Given the description of an element on the screen output the (x, y) to click on. 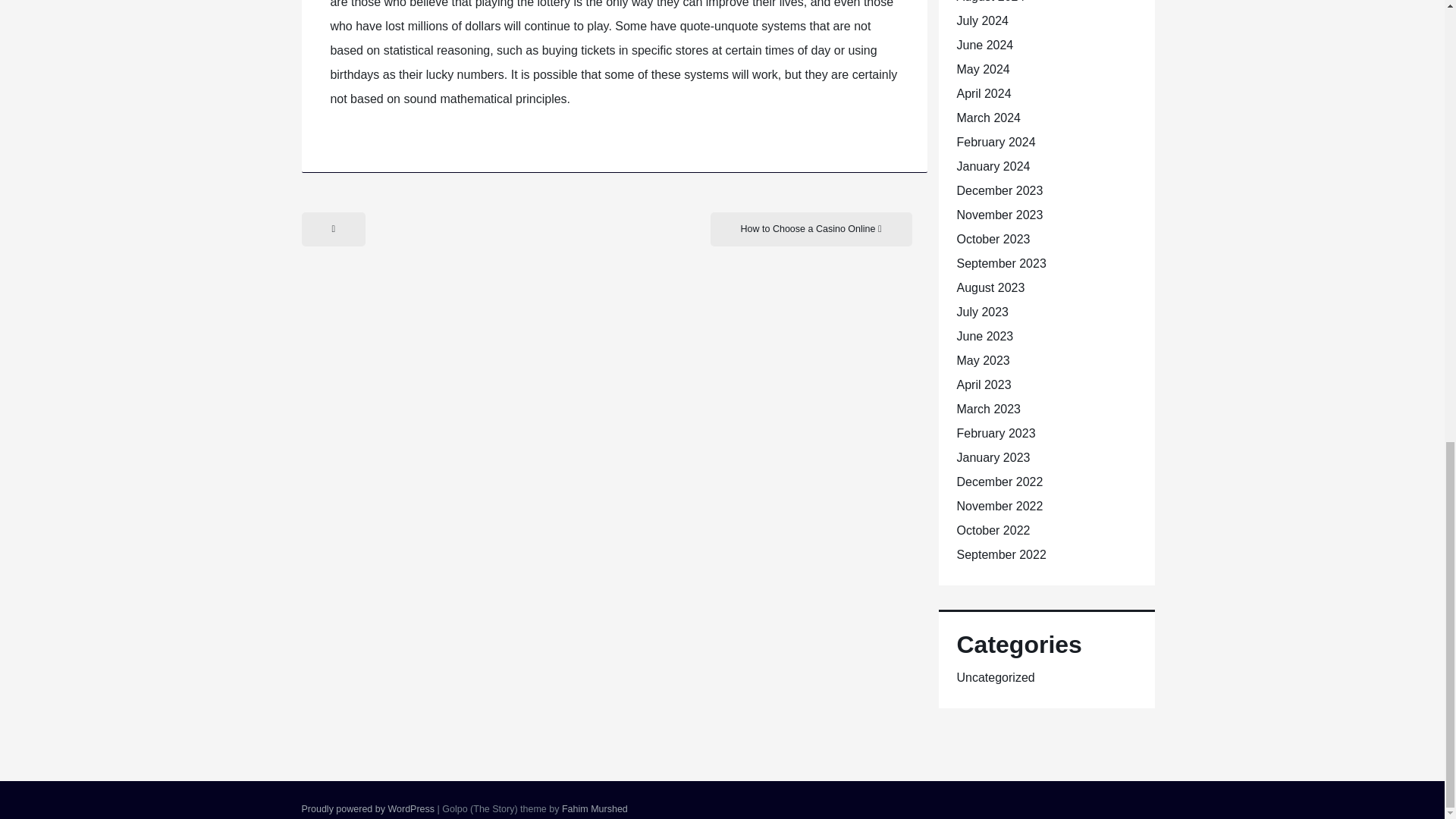
May 2023 (983, 359)
December 2023 (999, 190)
July 2024 (982, 20)
September 2023 (1001, 263)
June 2023 (984, 336)
March 2024 (989, 117)
April 2023 (983, 384)
November 2023 (999, 214)
How to Choose a Casino Online (811, 229)
July 2023 (982, 311)
